Given the description of an element on the screen output the (x, y) to click on. 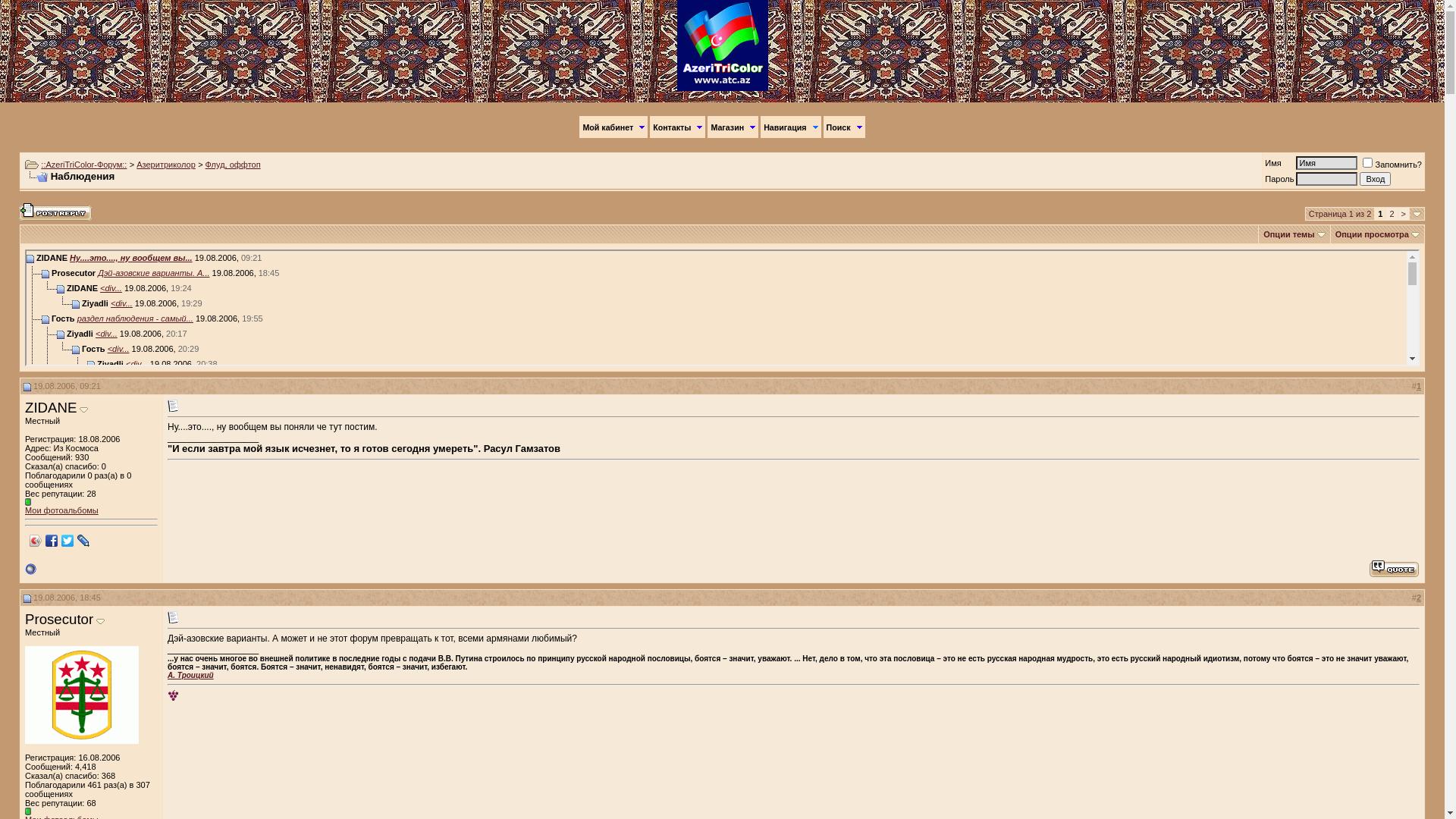
<div... Element type: text (127, 803)
<div... Element type: text (139, 515)
<div... Element type: text (141, 484)
1 Element type: text (1418, 385)
ZIDANE Element type: text (50, 407)
LiveJournal Element type: hover (83, 540)
<div... Element type: text (111, 454)
<div... Element type: text (136, 363)
<div... Element type: text (111, 287)
Facebook Element type: hover (51, 540)
For Good Observation - QafqazWolf Element type: hover (172, 695)
> Element type: text (1403, 213)
<div... Element type: text (111, 788)
<div... Element type: text (118, 348)
<div... Element type: text (110, 409)
Prosecutor Element type: text (59, 619)
<div... Element type: text (80, 742)
2 Element type: text (1418, 597)
<div... Element type: text (103, 666)
<div... Element type: text (121, 302)
<div... Element type: text (103, 697)
2 Element type: text (1391, 213)
<div... Element type: text (106, 333)
Twitter Element type: hover (67, 540)
<div... Element type: text (111, 621)
<div... Element type: text (121, 469)
<div... Element type: text (121, 636)
<div... Element type: text (152, 545)
